Given the description of an element on the screen output the (x, y) to click on. 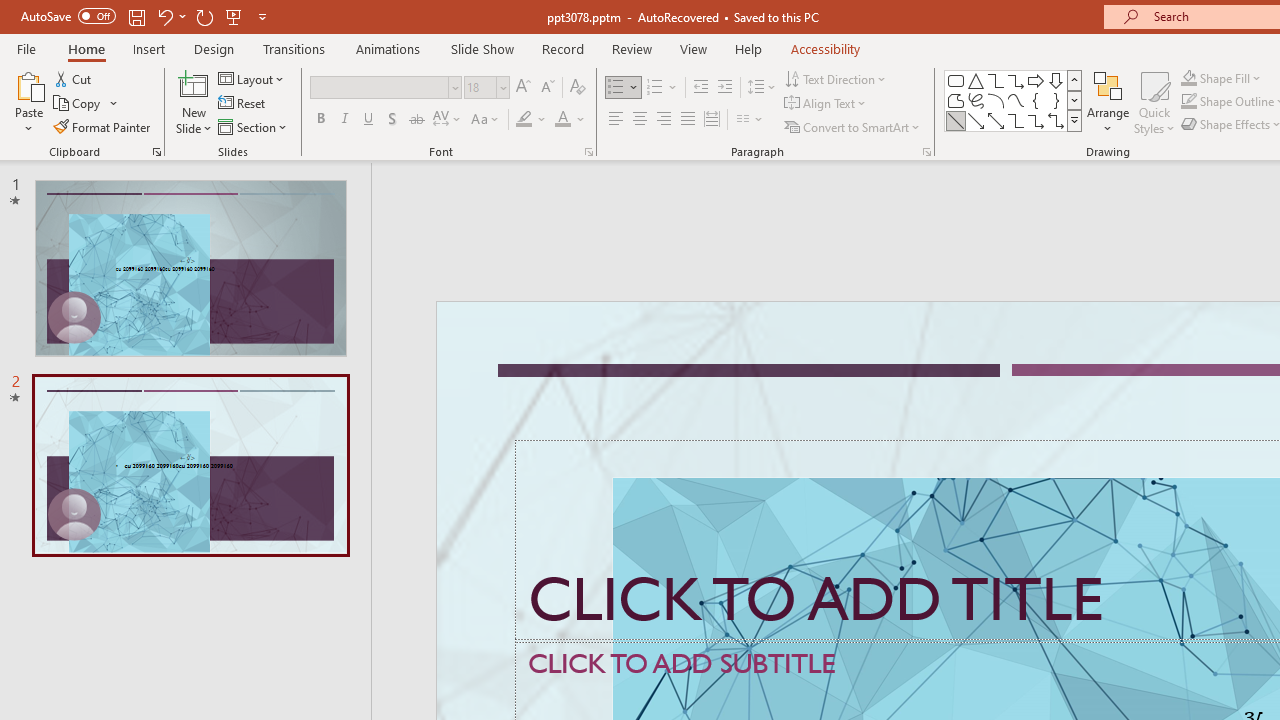
Line Arrow: Double (995, 120)
